Given the description of an element on the screen output the (x, y) to click on. 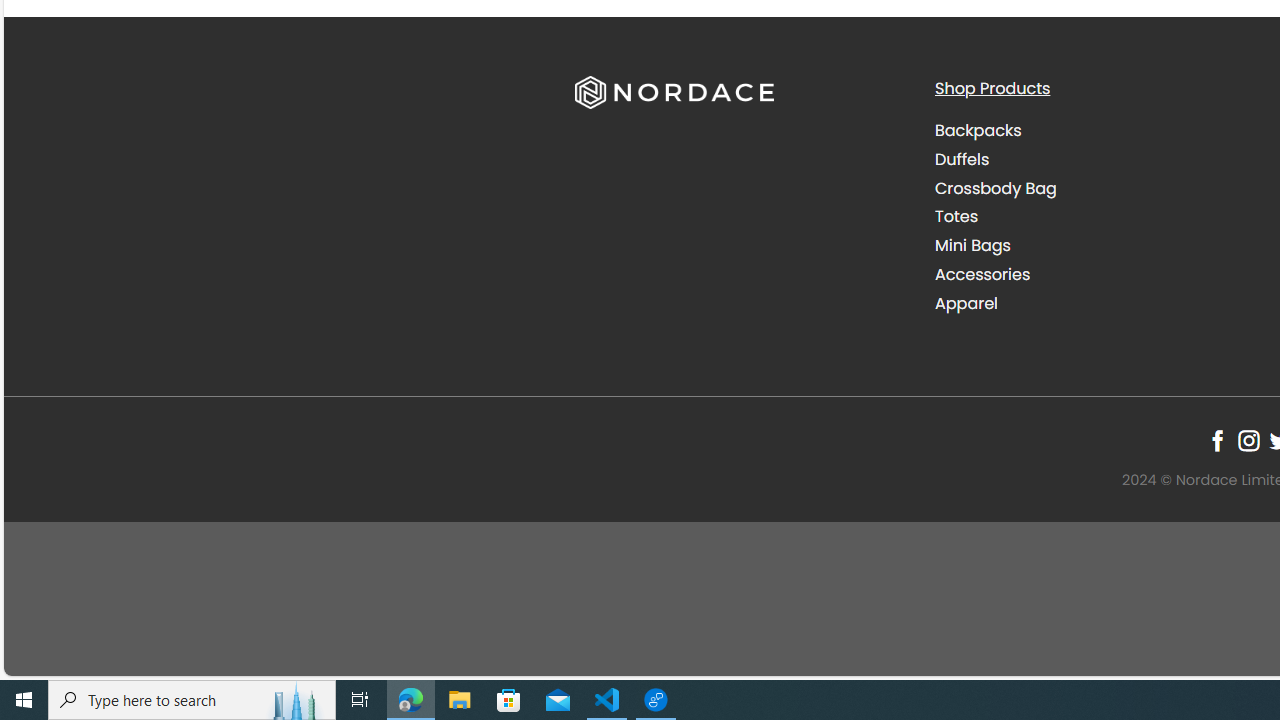
Backpacks (977, 130)
Crossbody Bag (995, 187)
Apparel (1099, 303)
Crossbody Bag (1099, 188)
Mini Bags (972, 245)
Mini Bags (1099, 246)
Accessories (982, 273)
Totes (955, 216)
Apparel (966, 302)
Duffels (961, 158)
Totes (1099, 216)
Duffels (1099, 159)
Backpacks (1099, 131)
